Given the description of an element on the screen output the (x, y) to click on. 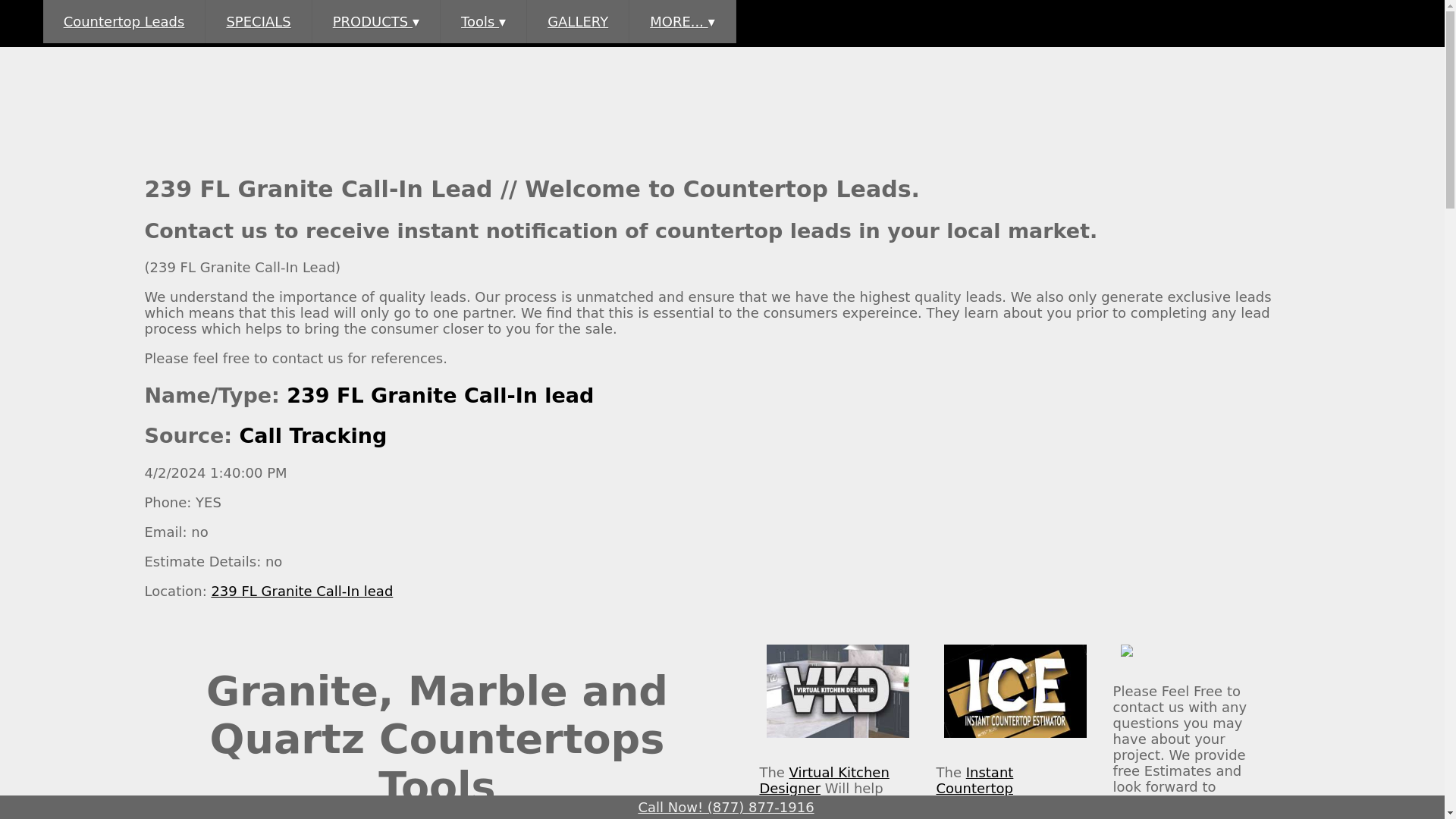
Instant Countertop Estimator (974, 788)
SPECIALS (258, 21)
Contact US (1151, 814)
virtual Kitchen Deisgner Countertop Leads (837, 740)
239 FL Granite Call-In lead (440, 395)
Instant Countertop Estimator (974, 788)
Countertop Leads (124, 21)
Contact Us Countertop Leads (1151, 814)
GALLERY (577, 21)
239 FL Granite Call-In lead (302, 590)
Call Tracking (313, 435)
Instant Countertop Estimator (823, 780)
Instant Countertop Estimator Countertop Leads (1014, 740)
Virtual Kitchen Designer (823, 780)
Contact Us Countertop Leads (1126, 659)
